Given the description of an element on the screen output the (x, y) to click on. 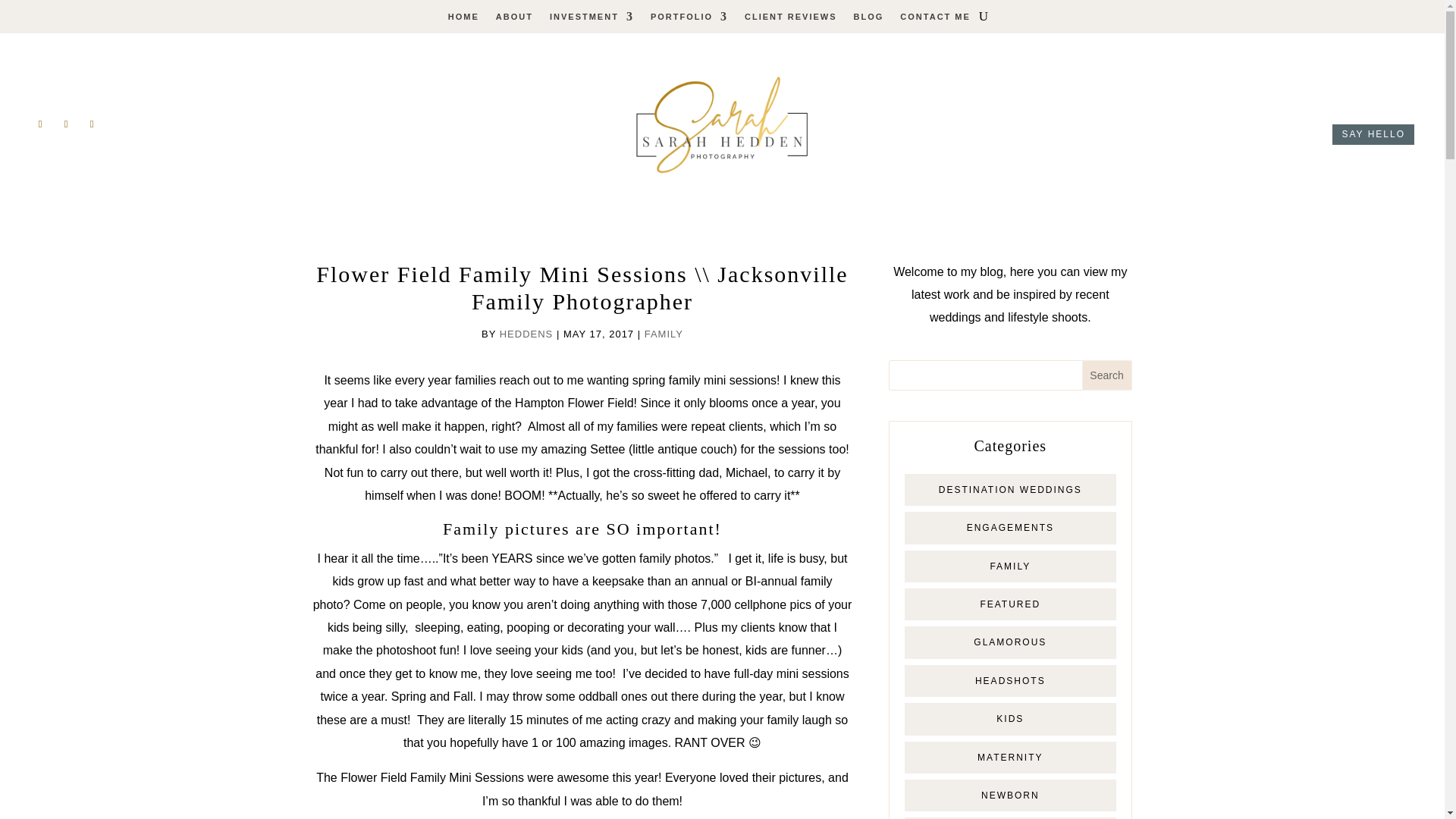
PORTFOLIO (689, 19)
Follow on Facebook (39, 124)
INVESTMENT (591, 19)
CONTACT ME (935, 19)
CLIENT REVIEWS (790, 19)
Follow on Pinterest (91, 124)
ABOUT (514, 19)
Follow on Instagram (65, 124)
Posts by HeddenS (526, 333)
BLOG (868, 19)
Search (1106, 375)
HOME (463, 19)
